Given the description of an element on the screen output the (x, y) to click on. 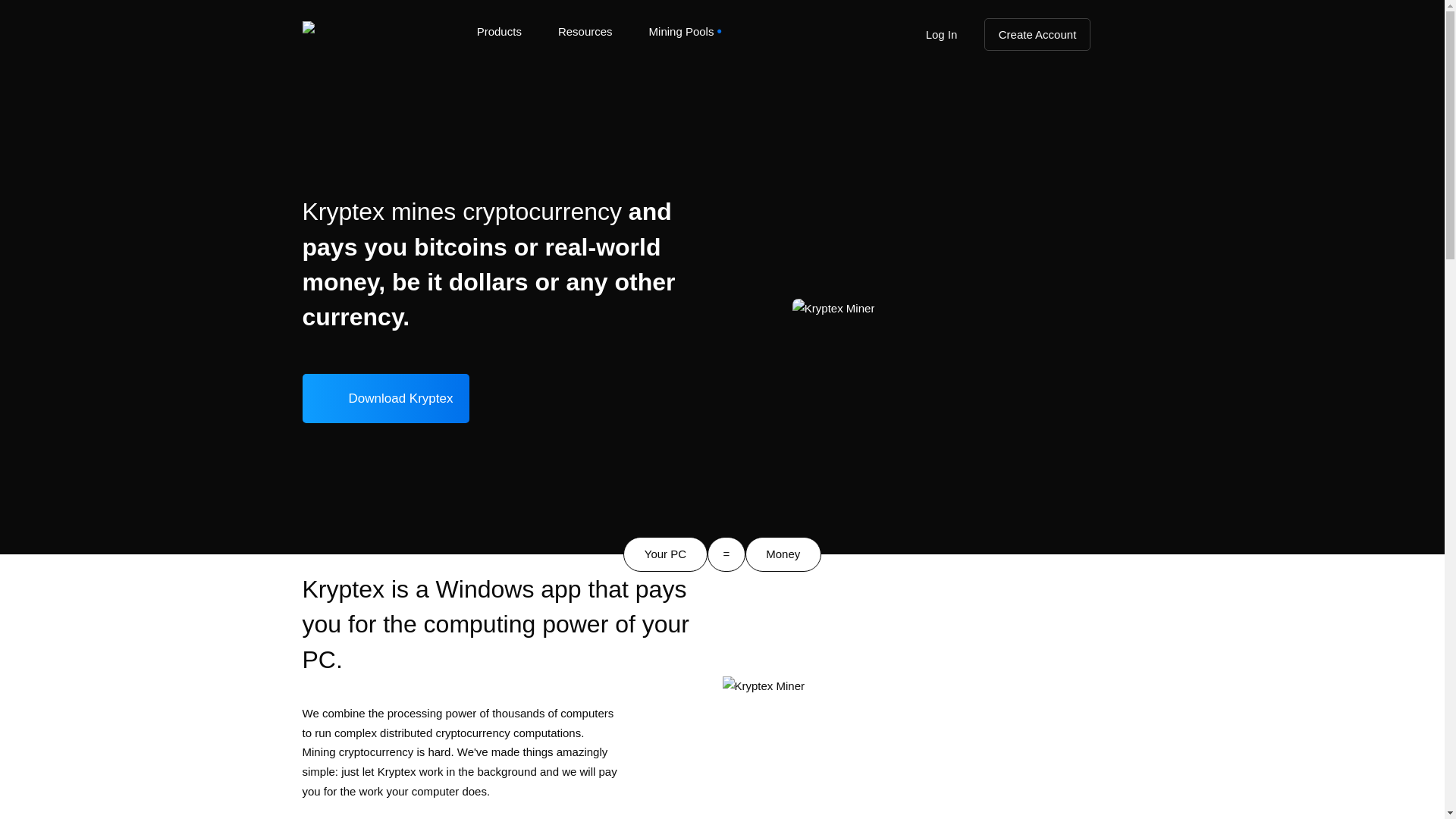
zh-hans (1093, 193)
Log In (941, 34)
en (1089, 91)
fi (1086, 447)
fr (1091, 243)
pt-br (1096, 142)
Download Kryptex (384, 398)
ar (1086, 319)
ru (1091, 167)
pl (1085, 421)
fa (1087, 268)
tr (1087, 294)
uk (1098, 345)
de (1091, 217)
cs (1086, 396)
